Given the description of an element on the screen output the (x, y) to click on. 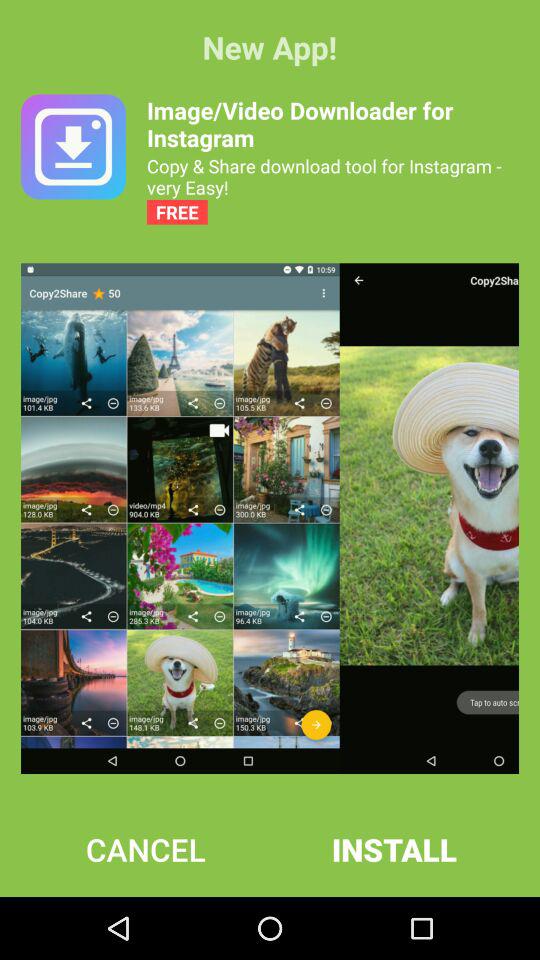
choose item to the right of the cancel (394, 849)
